Given the description of an element on the screen output the (x, y) to click on. 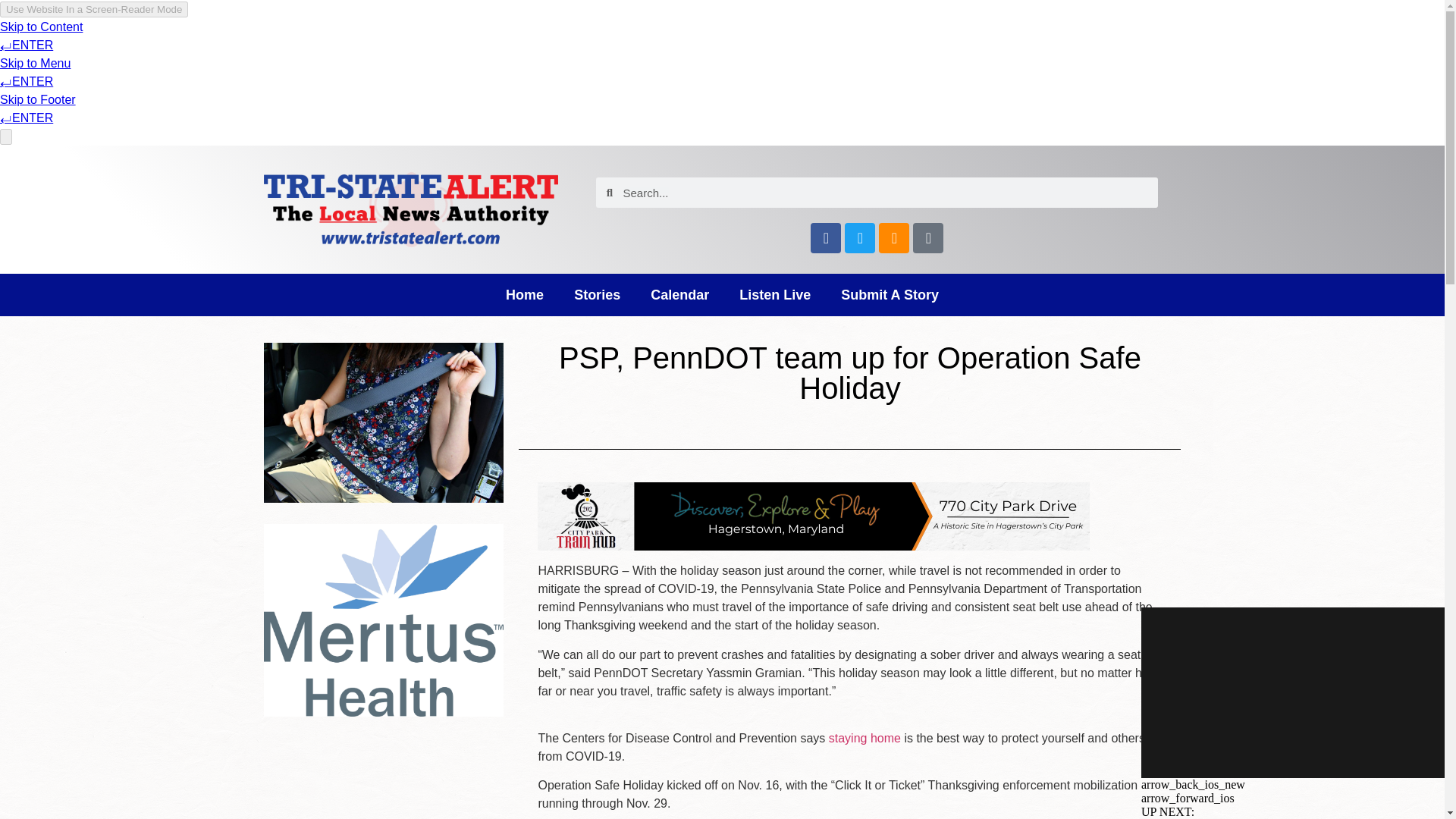
Home (524, 294)
Submit A Story (889, 294)
Stories (596, 294)
Calendar (678, 294)
Listen Live (774, 294)
staying home (864, 738)
